Given the description of an element on the screen output the (x, y) to click on. 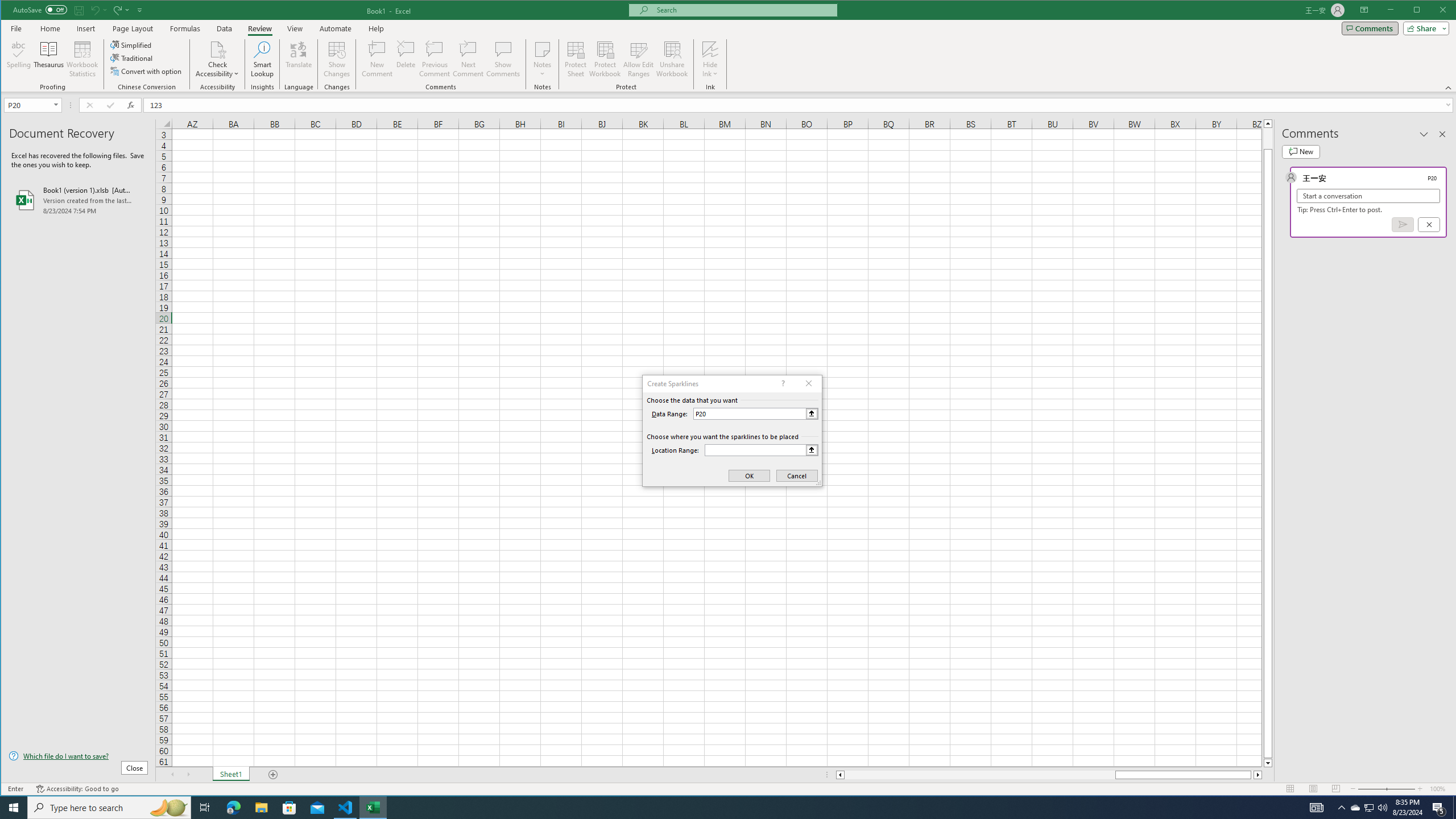
Protect Sheet... (575, 59)
Delete (405, 59)
Start a conversation (1368, 195)
